Given the description of an element on the screen output the (x, y) to click on. 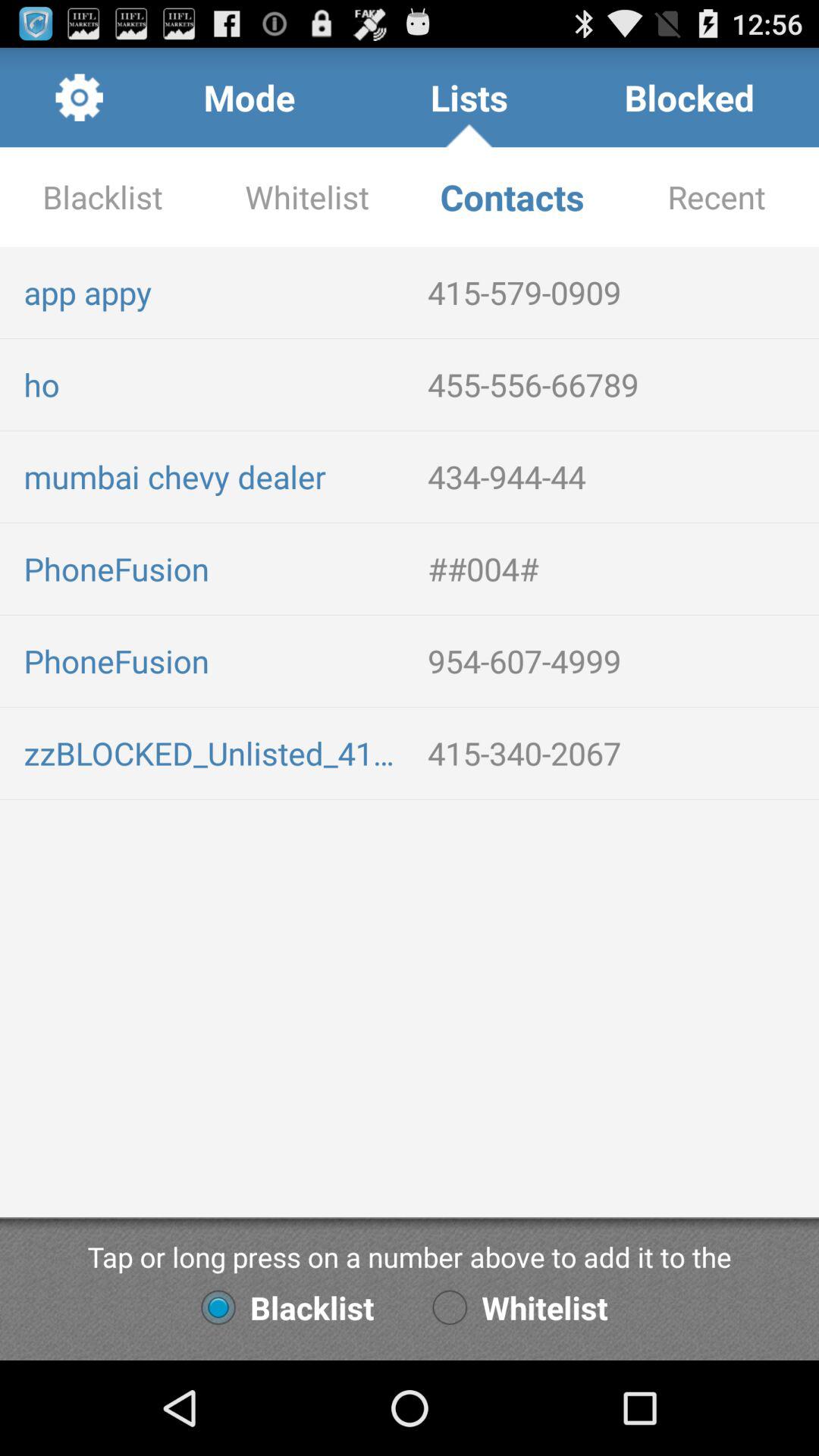
turn off app to the left of the mode (79, 97)
